Given the description of an element on the screen output the (x, y) to click on. 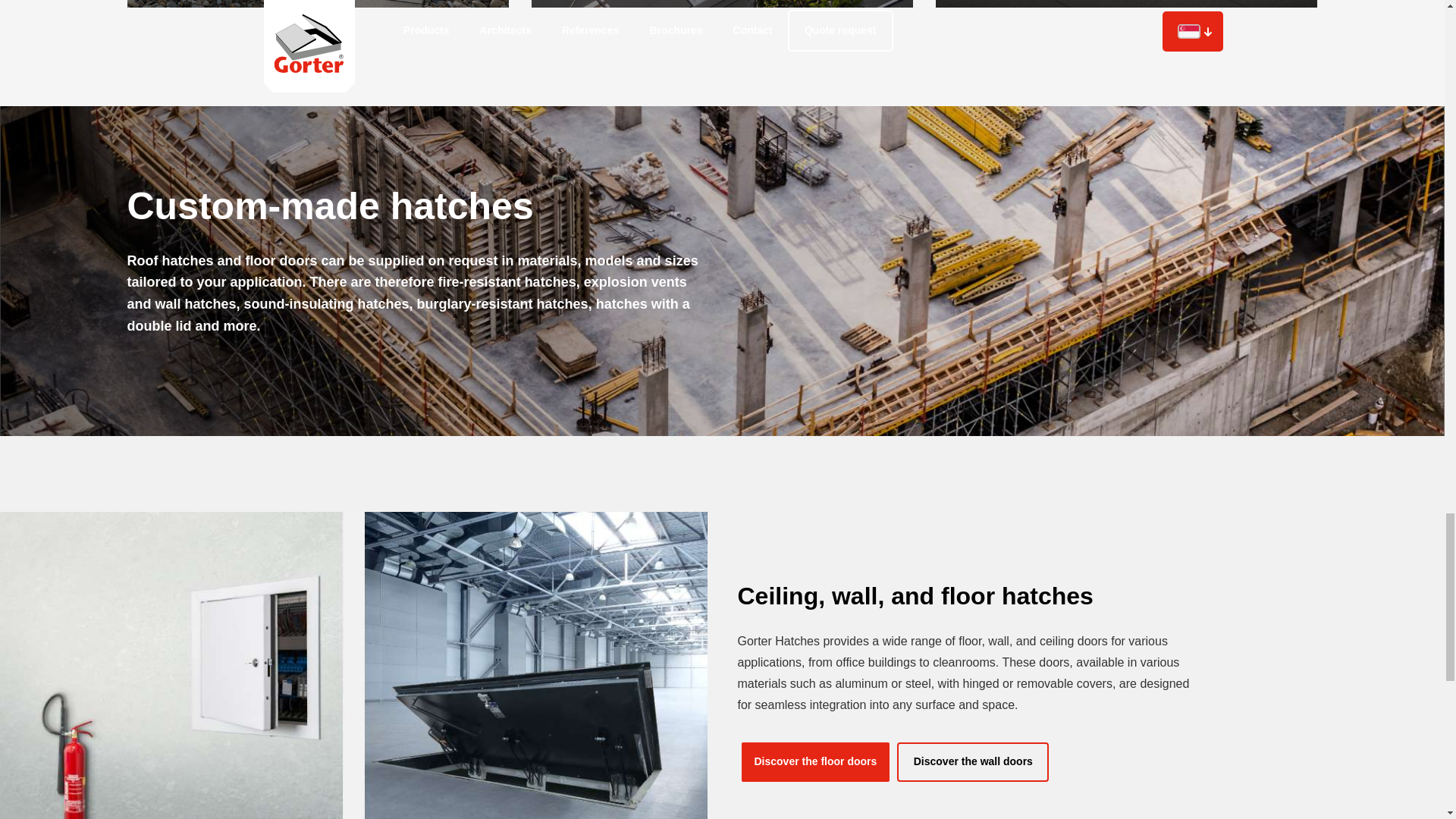
Discover the floor doors (815, 762)
Discover the wall doors (972, 762)
